Given the description of an element on the screen output the (x, y) to click on. 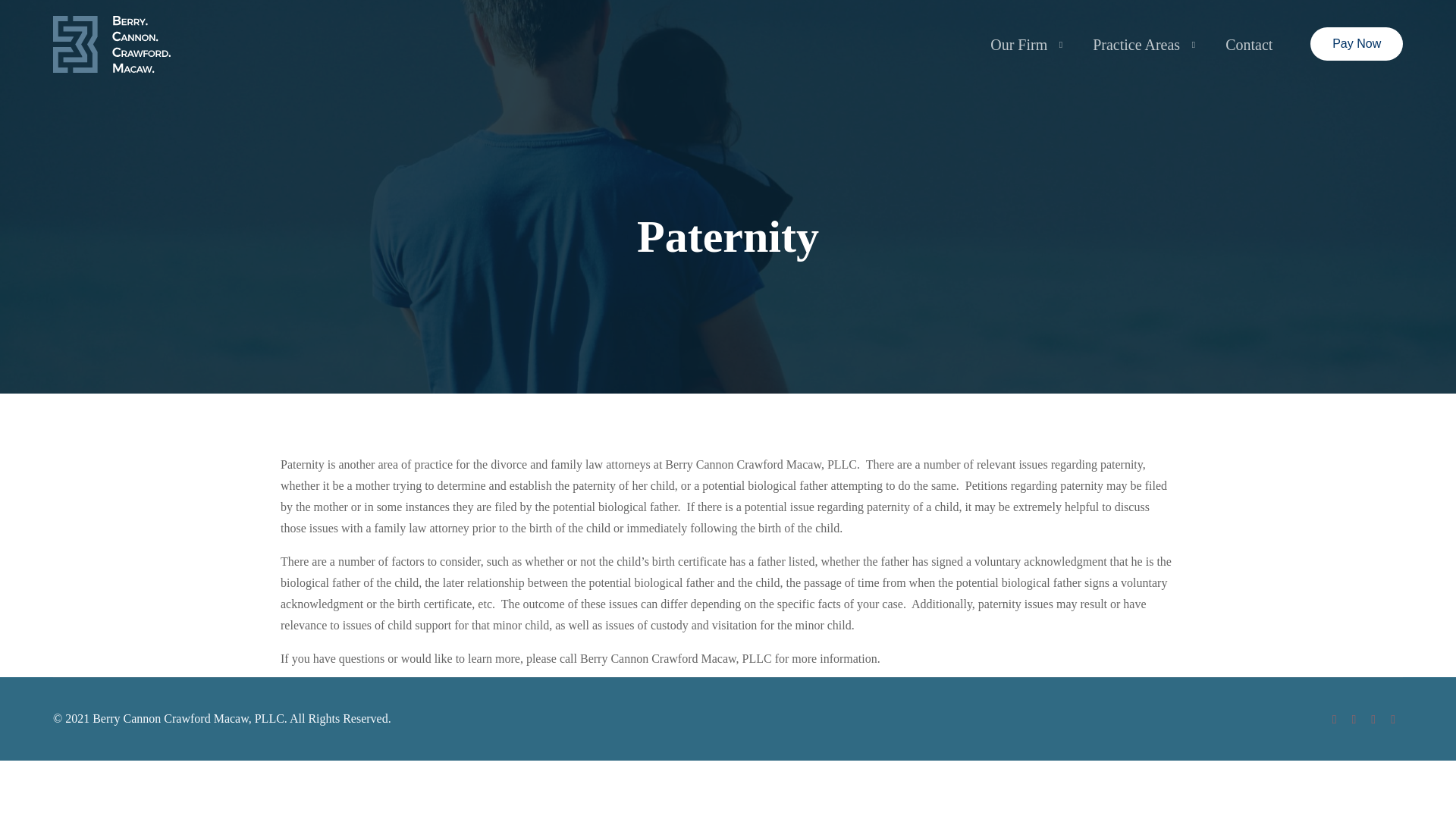
Pay Now (1356, 43)
Contact (1249, 44)
Practice Areas (1140, 44)
Our Firm (1022, 44)
